Given the description of an element on the screen output the (x, y) to click on. 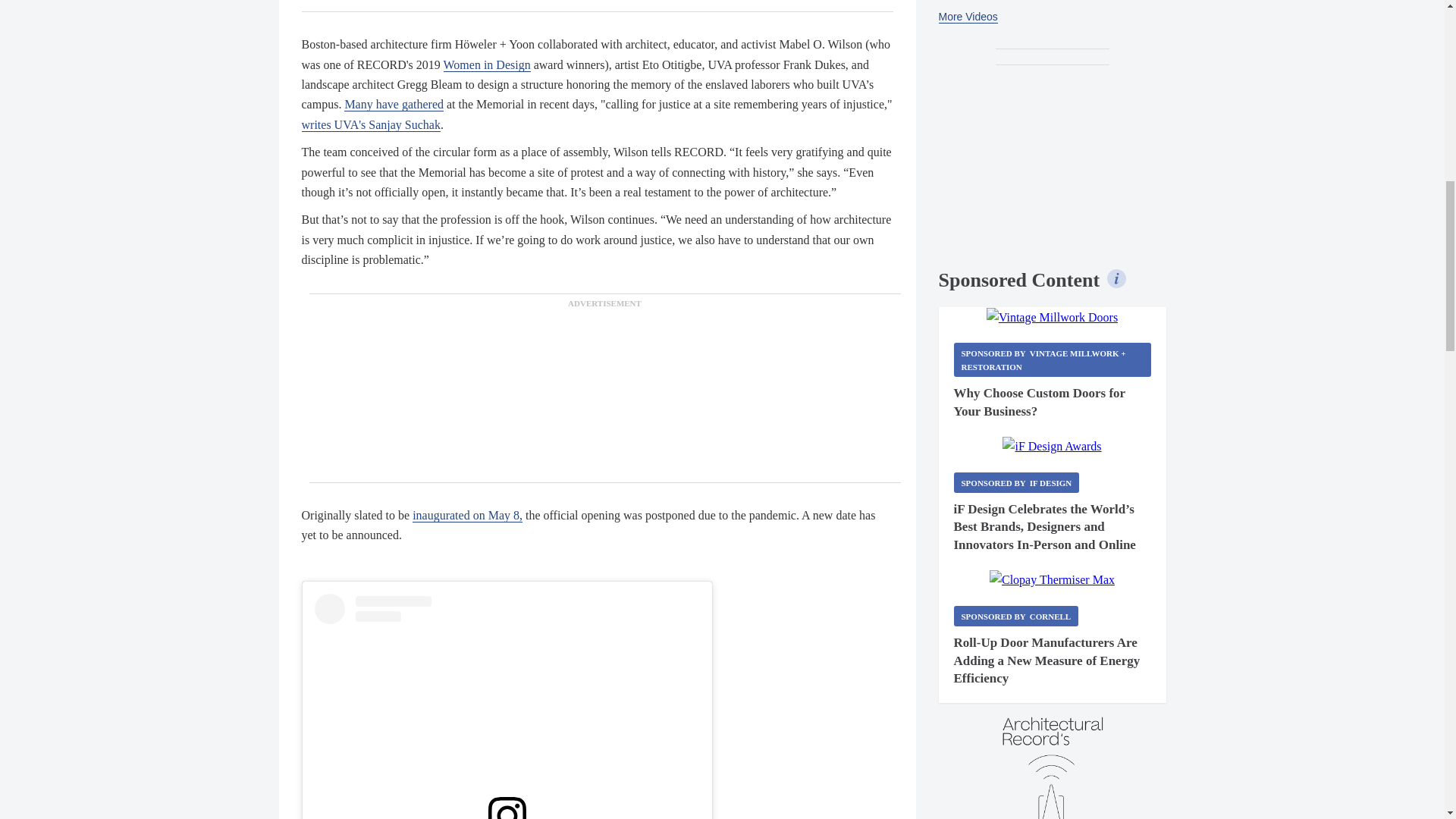
Sponsored by iF Design (1016, 482)
Clopay Thermiser Max (1052, 579)
Sponsored by Cornell (1015, 616)
iF Design Awards (1051, 446)
Vintage Millwork Doors (1052, 317)
